Given the description of an element on the screen output the (x, y) to click on. 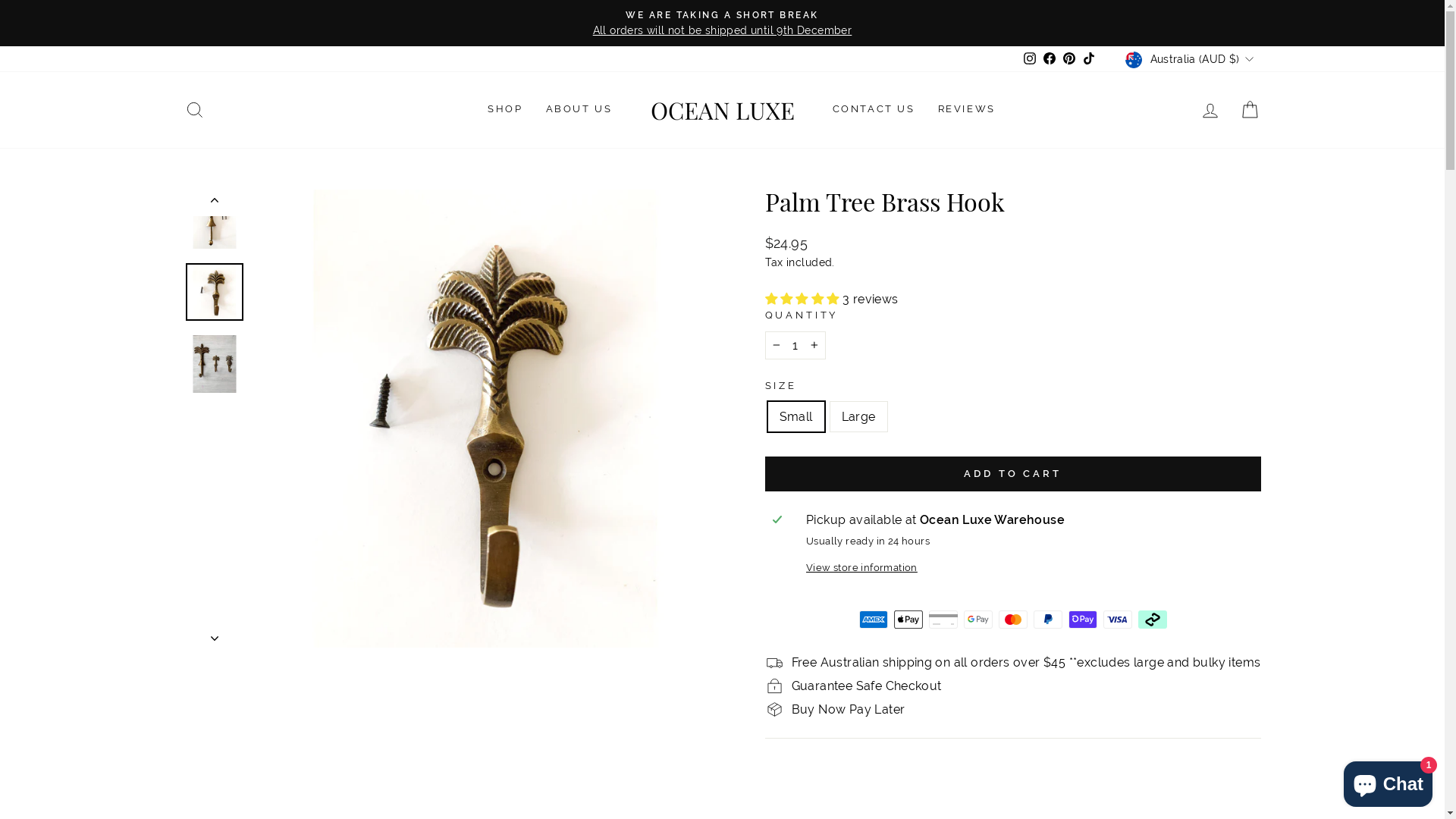
CONTACT US Element type: text (872, 109)
+ Element type: text (813, 345)
TikTok Element type: text (1088, 59)
SHOP Element type: text (504, 109)
Australia (AUD $) Element type: text (1190, 59)
LOG IN Element type: text (1210, 109)
Shopify online store chat Element type: hover (1388, 780)
SEARCH Element type: text (193, 109)
Facebook Element type: text (1049, 59)
View store information Element type: text (1029, 567)
Instagram Element type: text (1029, 59)
ABOUT US Element type: text (579, 109)
REVIEWS Element type: text (966, 109)
ADD TO CART Element type: text (1012, 473)
CART Element type: text (1249, 109)
Pinterest Element type: text (1069, 59)
